Given the description of an element on the screen output the (x, y) to click on. 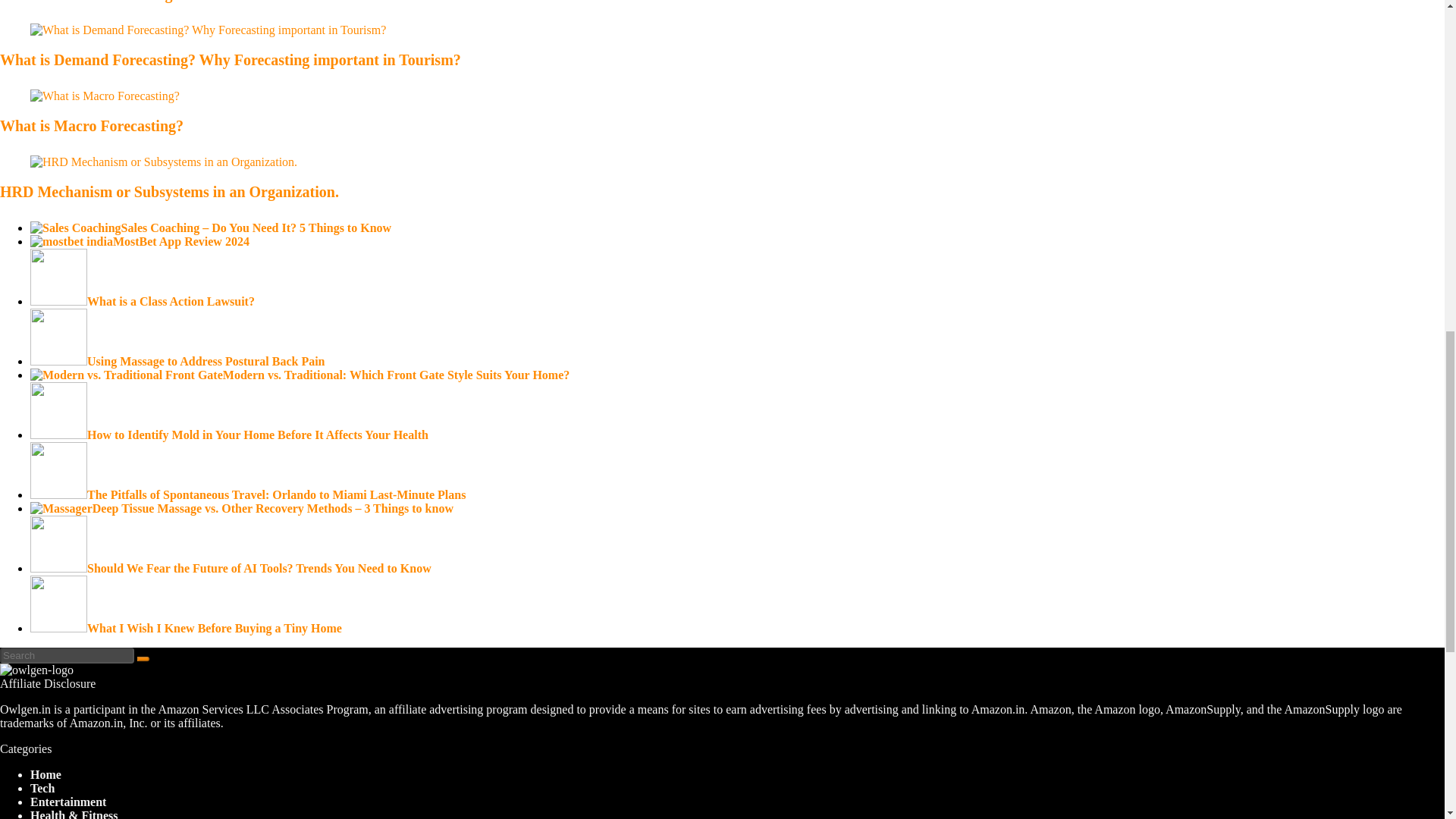
HRD Mechanism or Subsystems in an Organization. (169, 191)
What is Micro Forecasting? (90, 1)
What is Macro Forecasting? (91, 125)
What I Wish I Knew Before Buying a Tiny Home (186, 627)
What is a Class Action Lawsuit? (142, 300)
MostBet App Review 2024 (139, 241)
Using Massage to Address Postural Back Pain (177, 360)
